Given the description of an element on the screen output the (x, y) to click on. 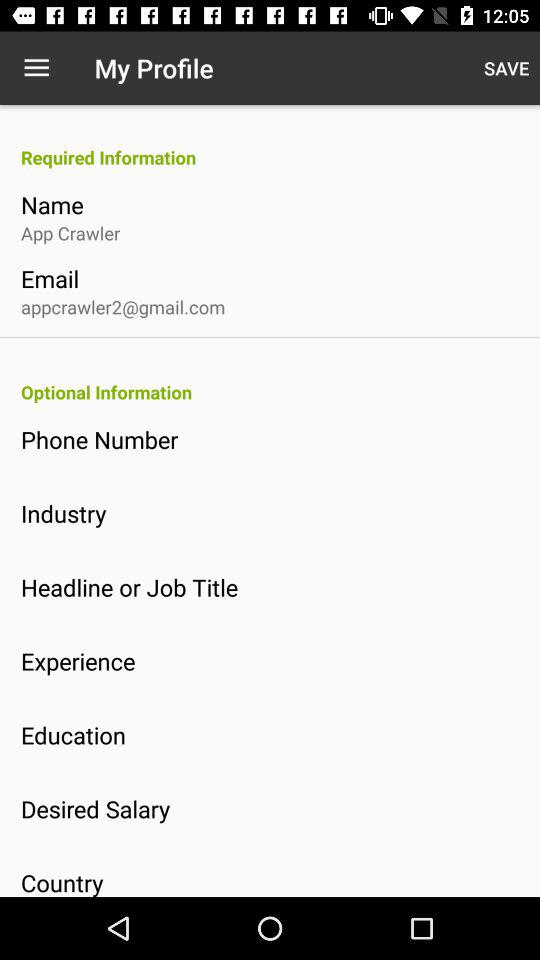
choose icon to the right of the my profile icon (506, 67)
